Given the description of an element on the screen output the (x, y) to click on. 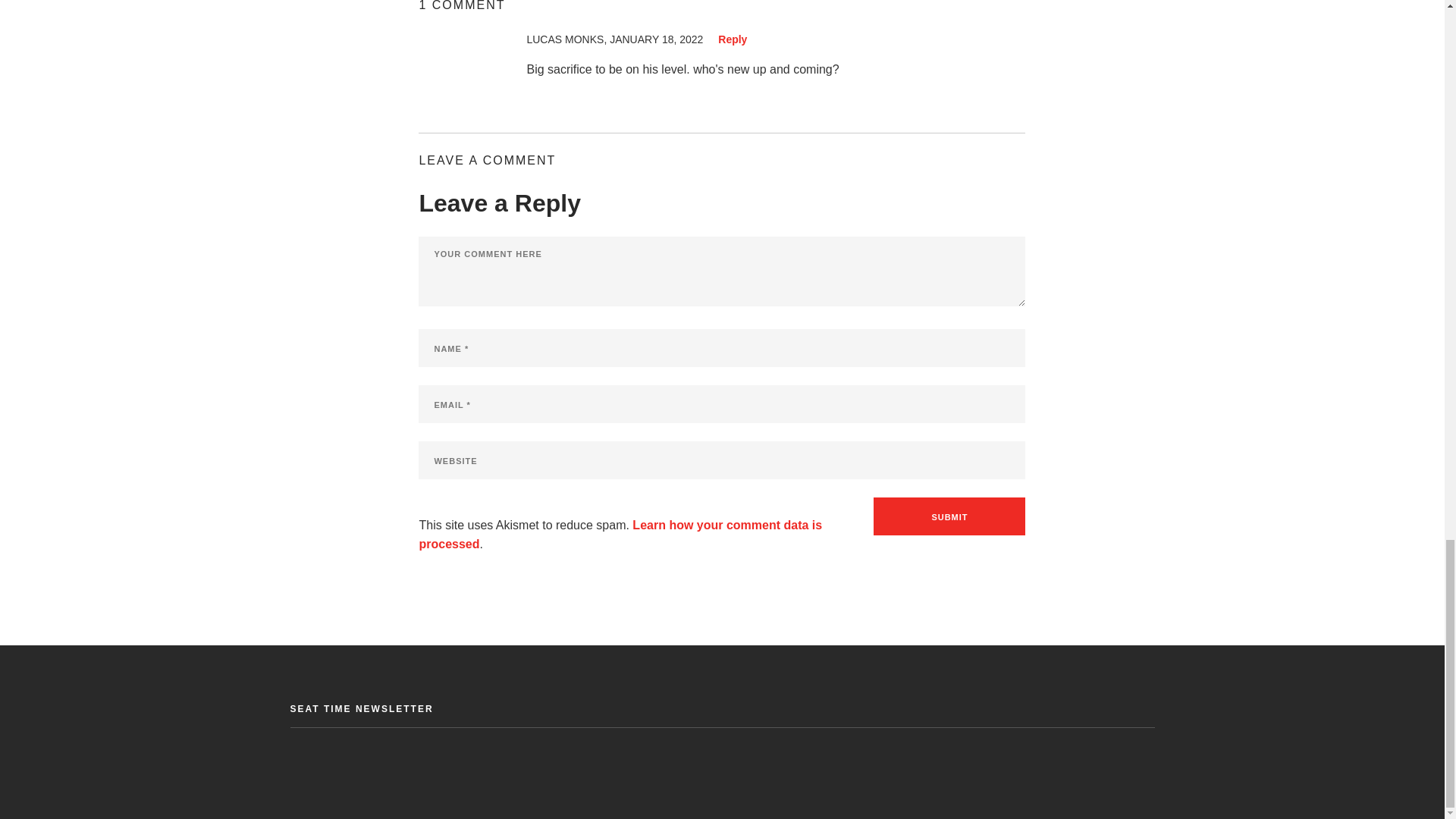
Learn how your comment data is processed (620, 534)
Submit (949, 516)
Submit (949, 516)
Reply (731, 39)
